Given the description of an element on the screen output the (x, y) to click on. 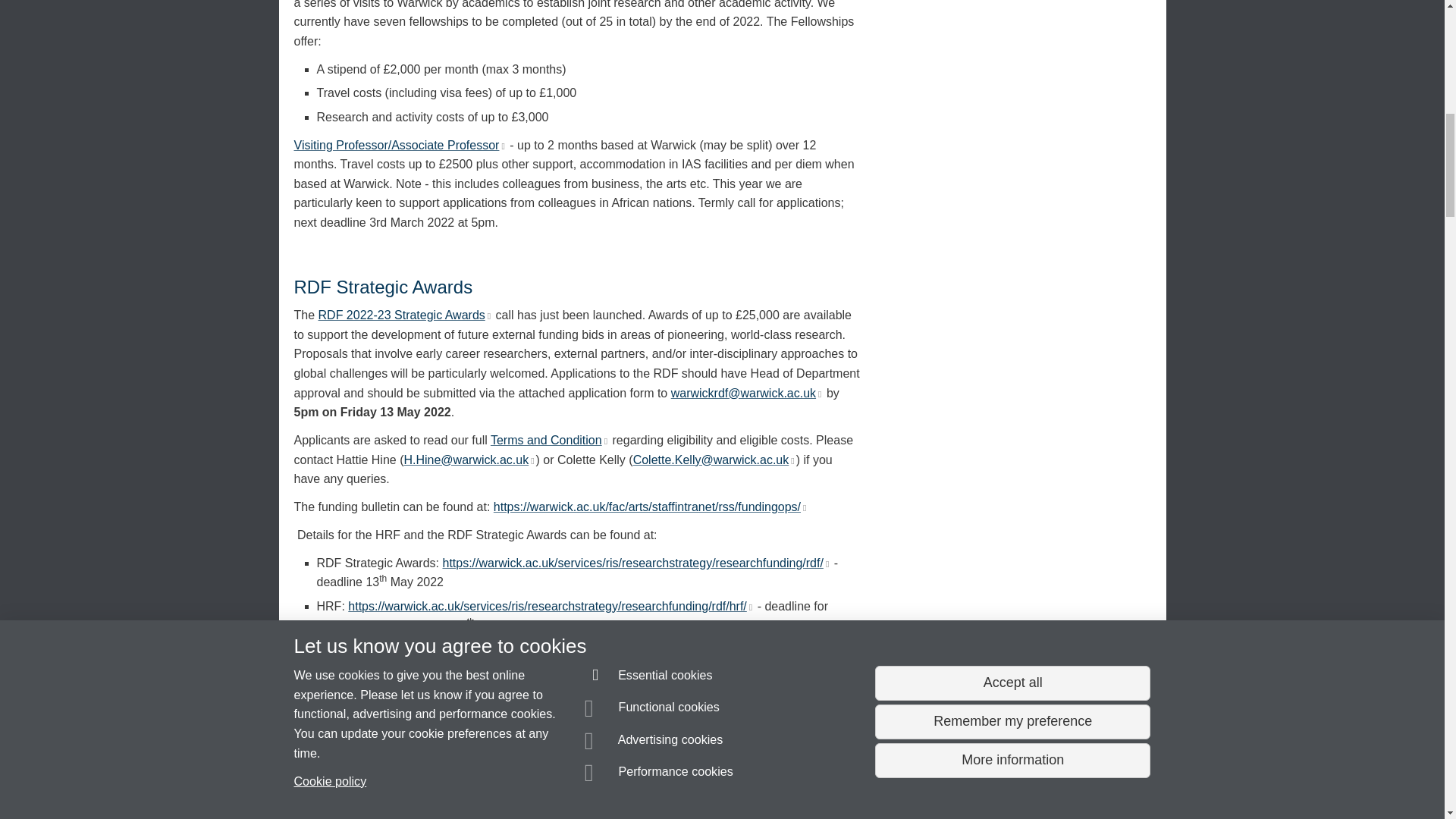
Link opens in a new window (531, 461)
Link opens in a new window (818, 393)
Link opens in a new window (501, 145)
Link opens in a new window (604, 440)
Link opens in a new window (487, 316)
